Given the description of an element on the screen output the (x, y) to click on. 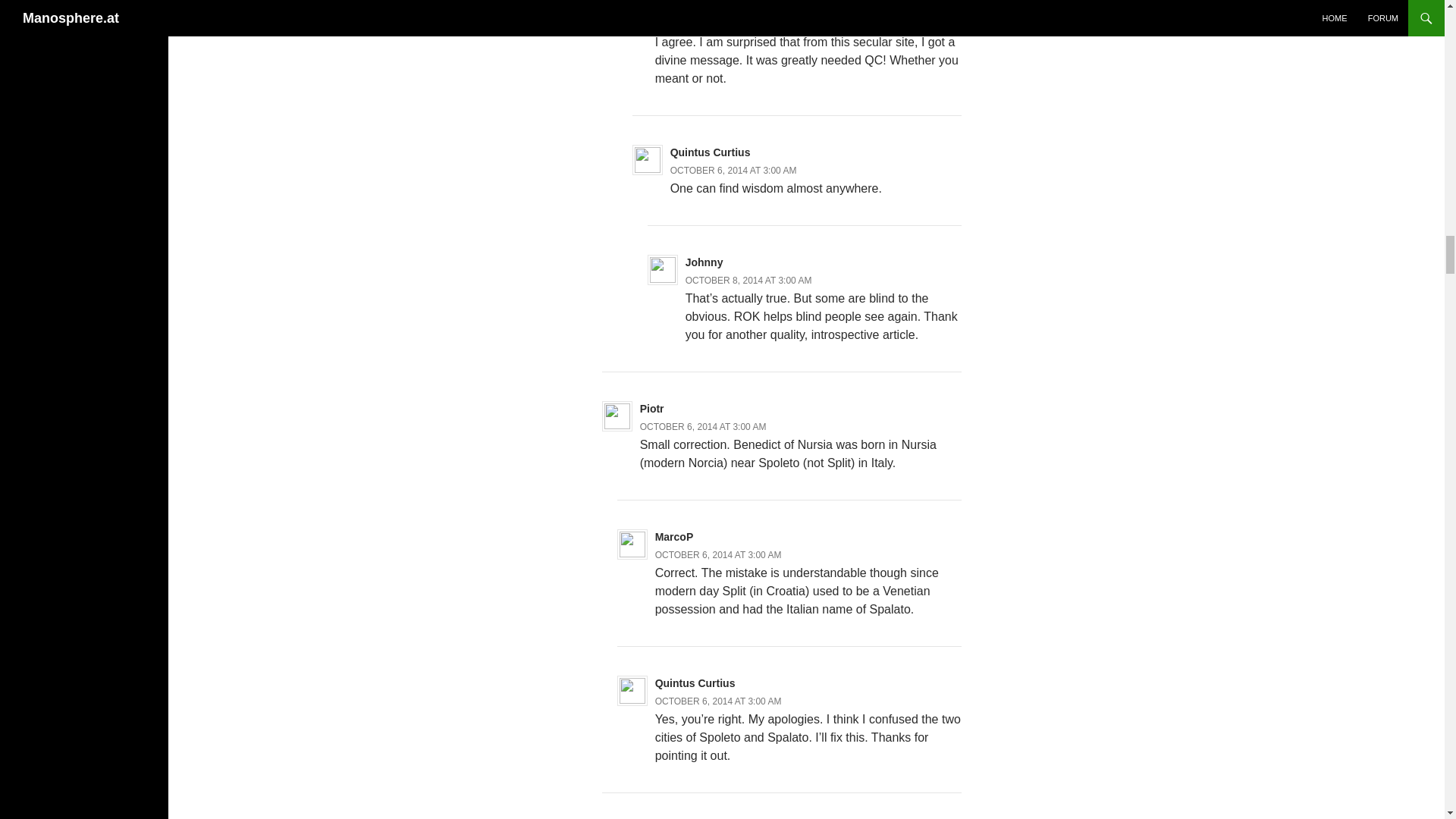
OCTOBER 6, 2014 AT 3:00 AM (703, 426)
OCTOBER 6, 2014 AT 3:00 AM (718, 554)
OCTOBER 6, 2014 AT 3:00 AM (718, 701)
OCTOBER 6, 2014 AT 3:00 AM (732, 170)
OCTOBER 6, 2014 AT 3:00 AM (718, 23)
Quintus Curtius (710, 152)
Quintus Curtius (695, 683)
OCTOBER 8, 2014 AT 3:00 AM (748, 280)
